Given the description of an element on the screen output the (x, y) to click on. 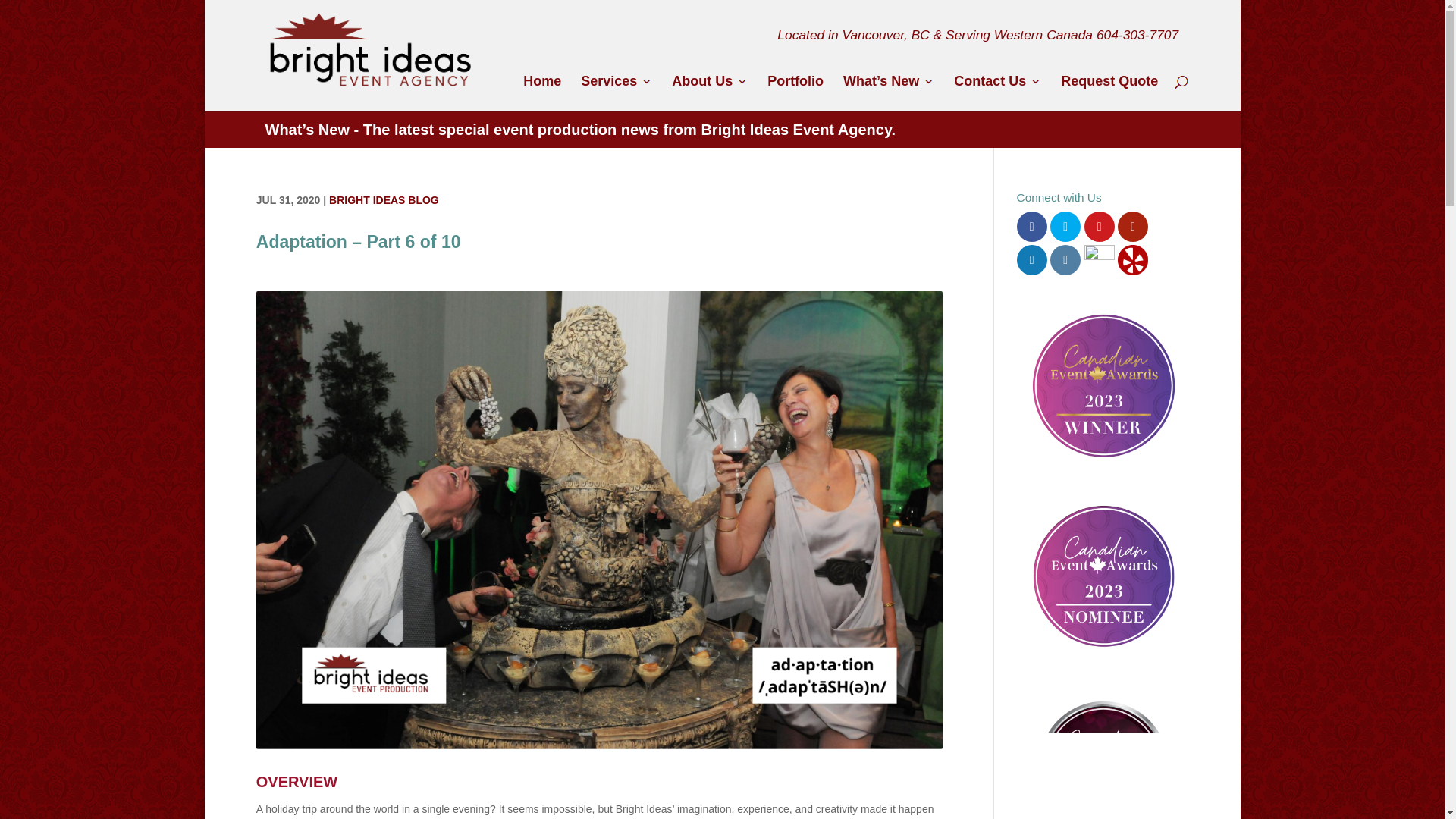
BRIGHT IDEAS BLOG (384, 200)
Request Quote (1109, 93)
Services (616, 93)
Portfolio (795, 93)
About Us (709, 93)
Contact Us (997, 93)
Home (541, 93)
